Given the description of an element on the screen output the (x, y) to click on. 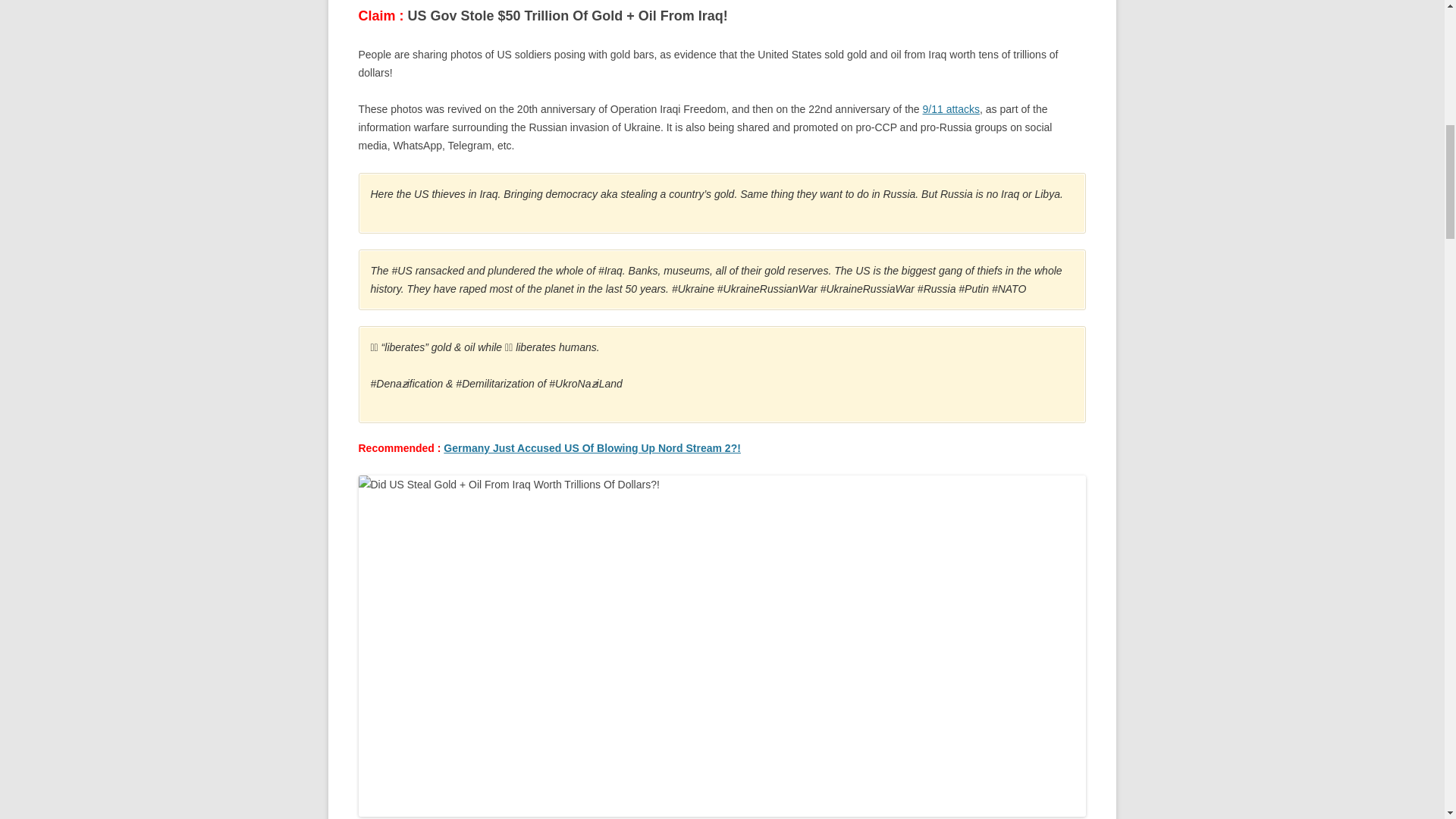
Germany Just Accused US Of Blowing Up Nord Stream 2?! (592, 448)
